Given the description of an element on the screen output the (x, y) to click on. 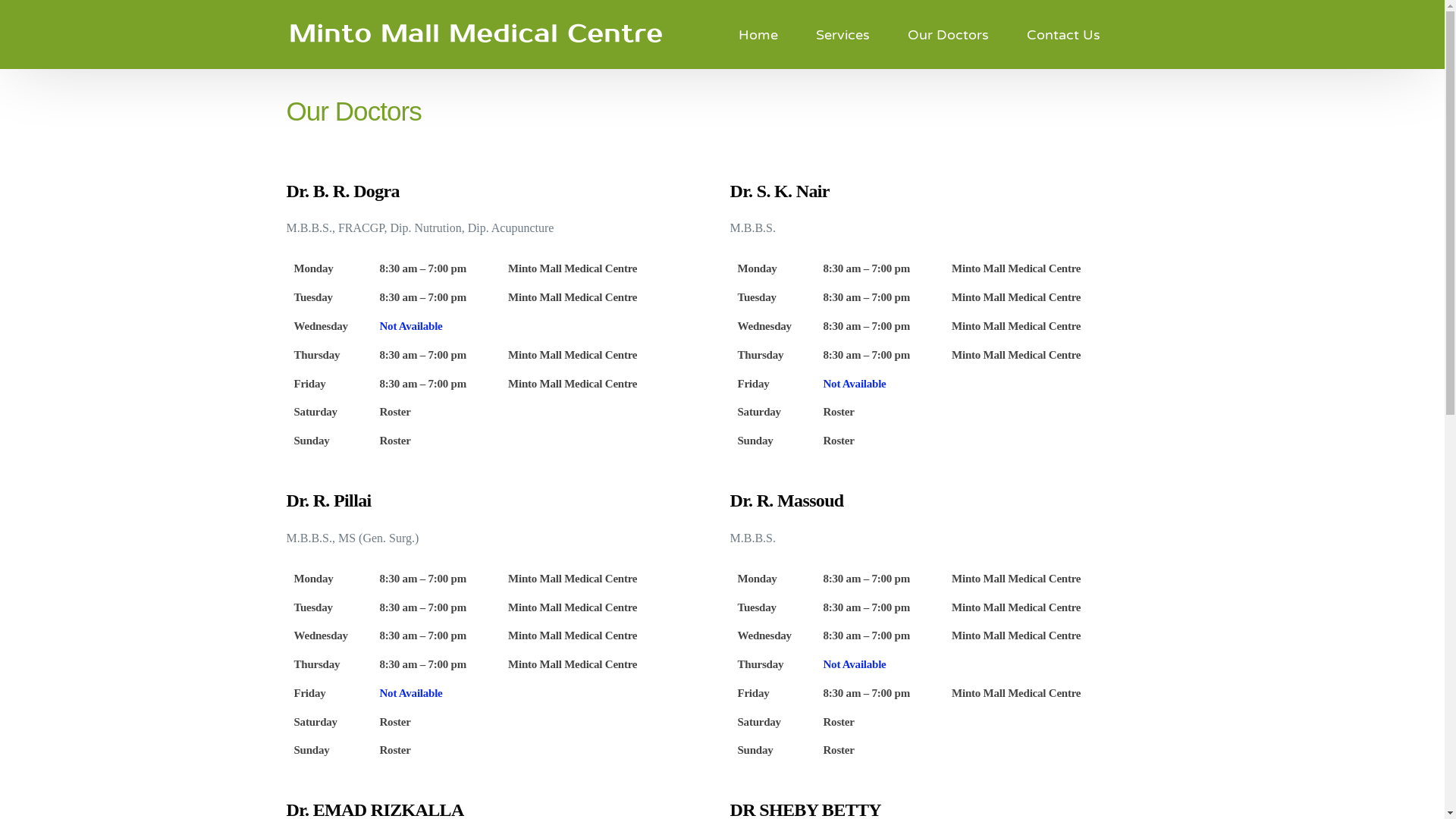
Services Element type: text (842, 34)
Contact Us Element type: text (1063, 34)
Home Element type: text (758, 34)
Our Doctors Element type: text (947, 34)
